Given the description of an element on the screen output the (x, y) to click on. 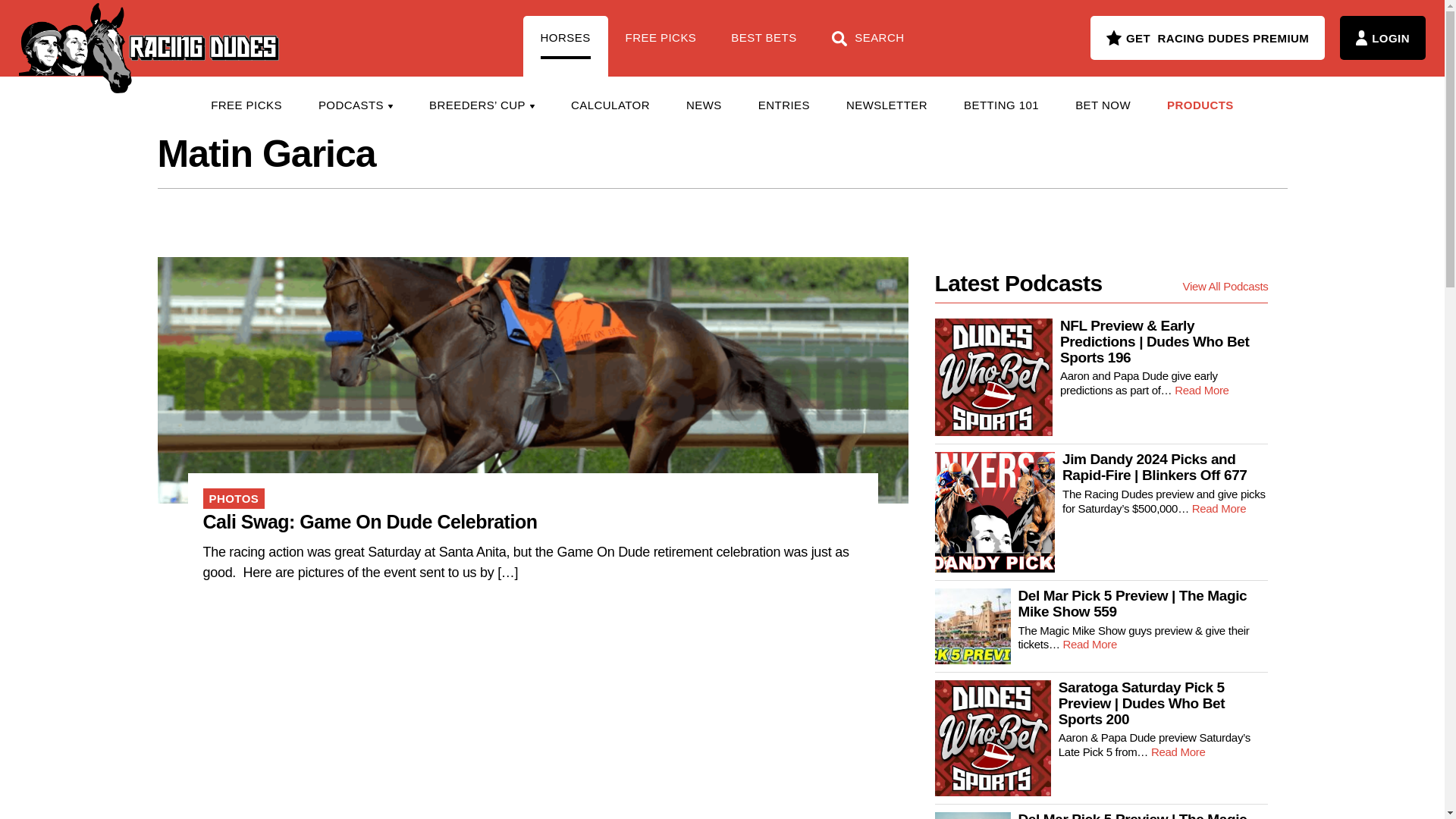
FREE PICKS (661, 45)
BEST BETS (763, 45)
FREE PICKS (245, 105)
PODCASTS (354, 105)
HORSES (565, 45)
 SEARCH (867, 45)
GET  RACING DUDES PREMIUM (1207, 37)
LOGIN (1382, 37)
